Given the description of an element on the screen output the (x, y) to click on. 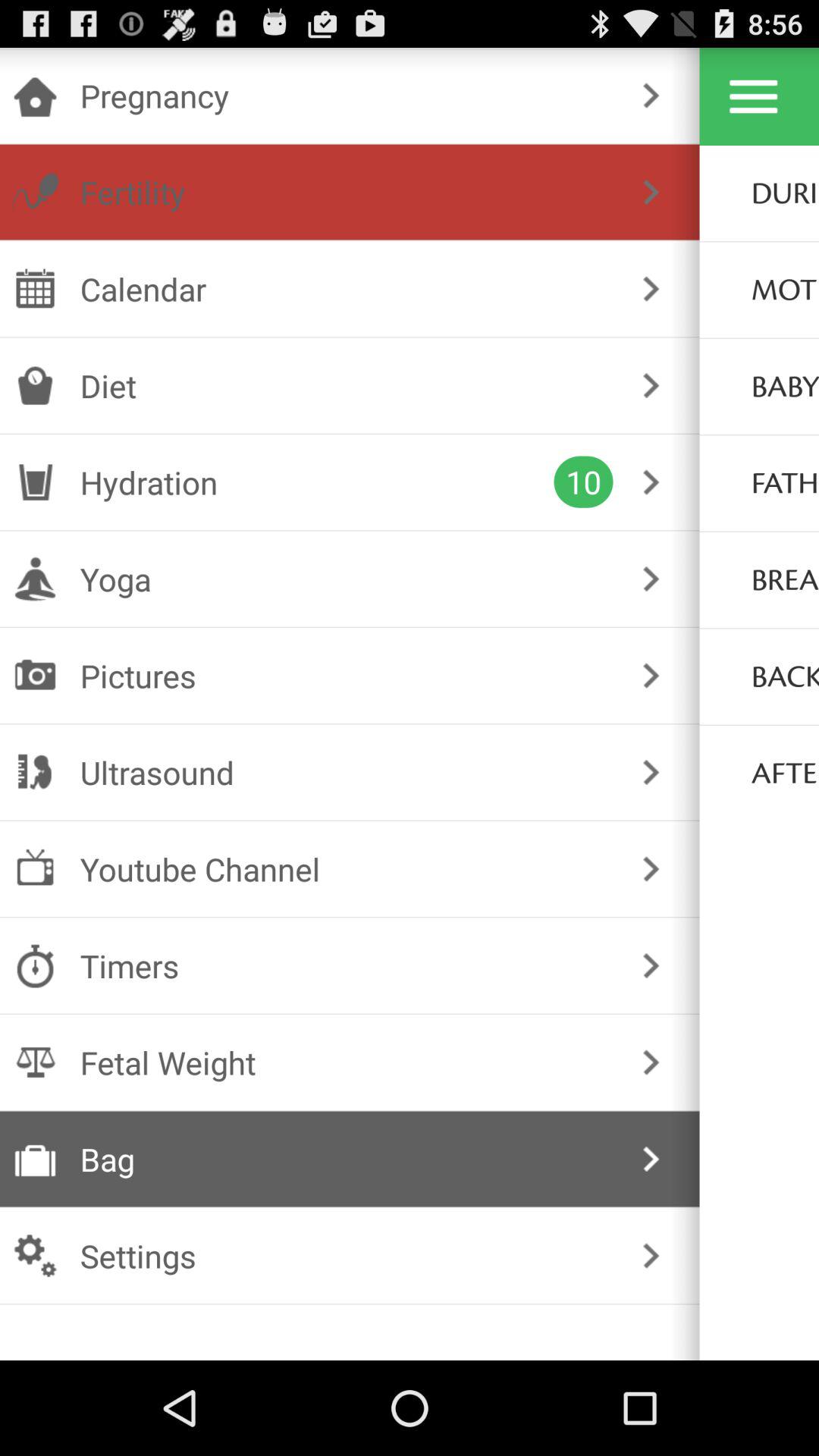
turn on the checkbox below the ultrasound icon (346, 868)
